Given the description of an element on the screen output the (x, y) to click on. 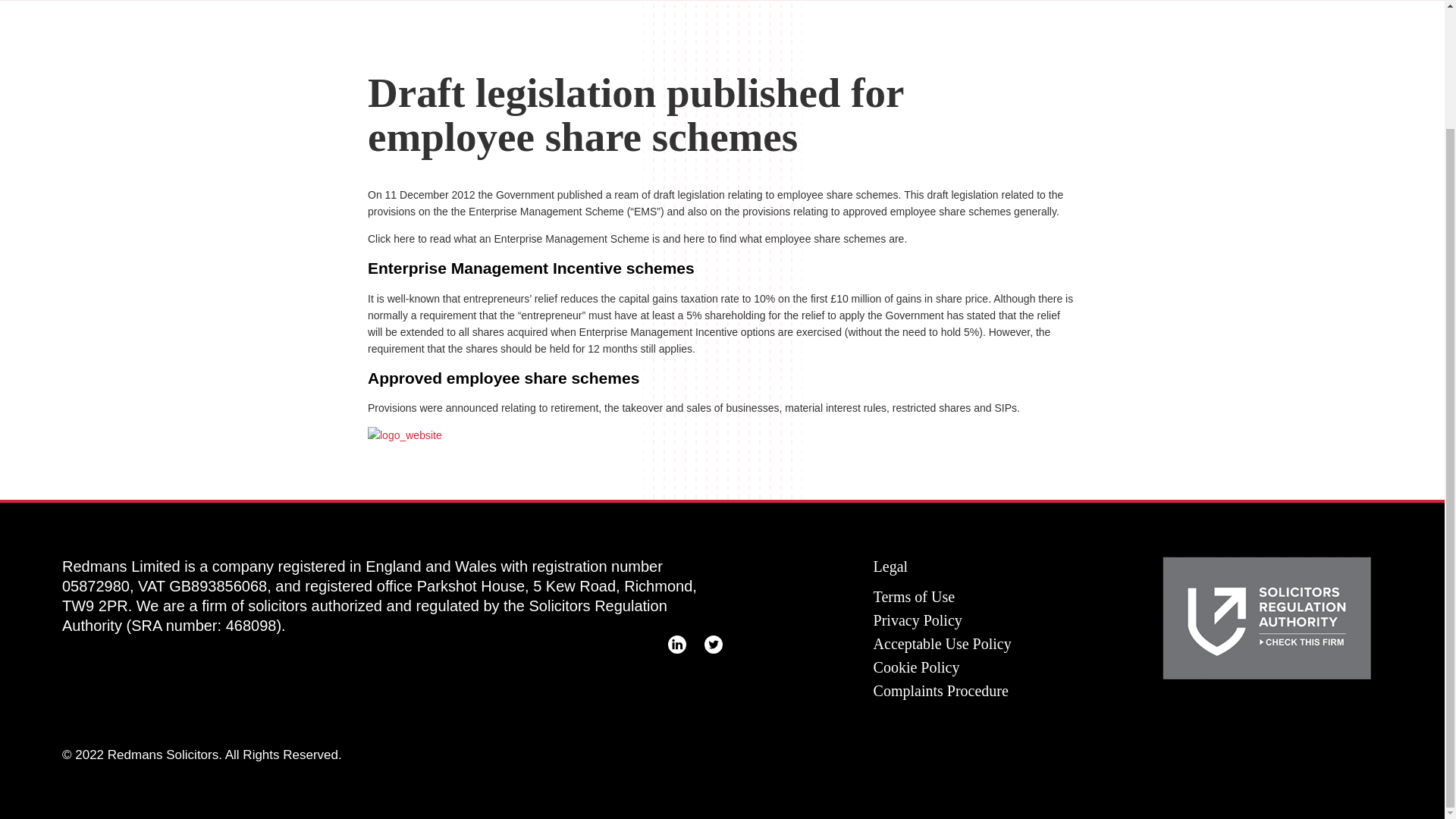
Cookie Policy (916, 667)
Terms of Use (914, 596)
Privacy Policy (917, 619)
Acceptable Use Policy (942, 643)
LinkedIn (675, 644)
Twitter (712, 644)
Complaints Procedure (941, 690)
